Given the description of an element on the screen output the (x, y) to click on. 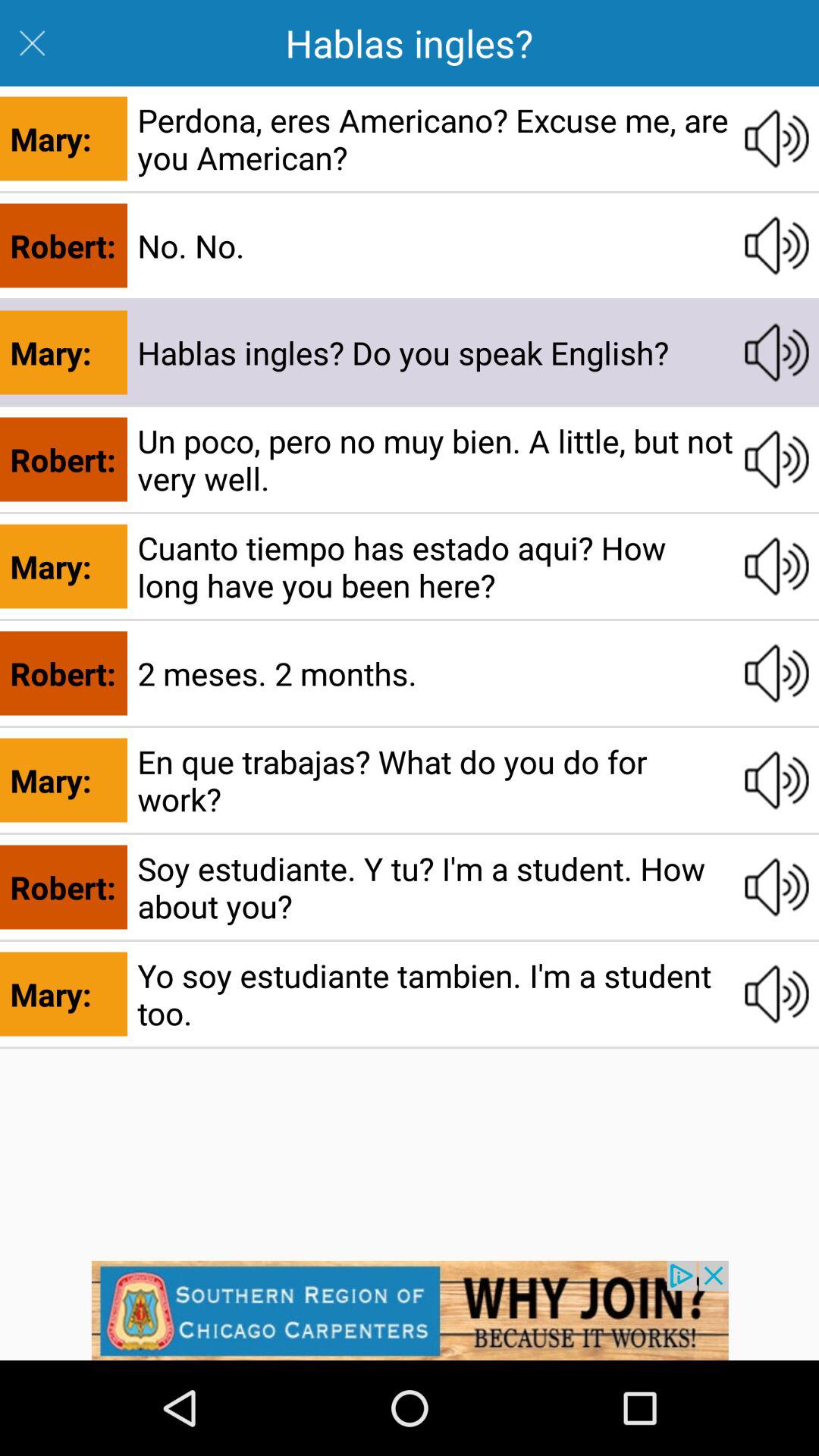
click button (776, 566)
